Given the description of an element on the screen output the (x, y) to click on. 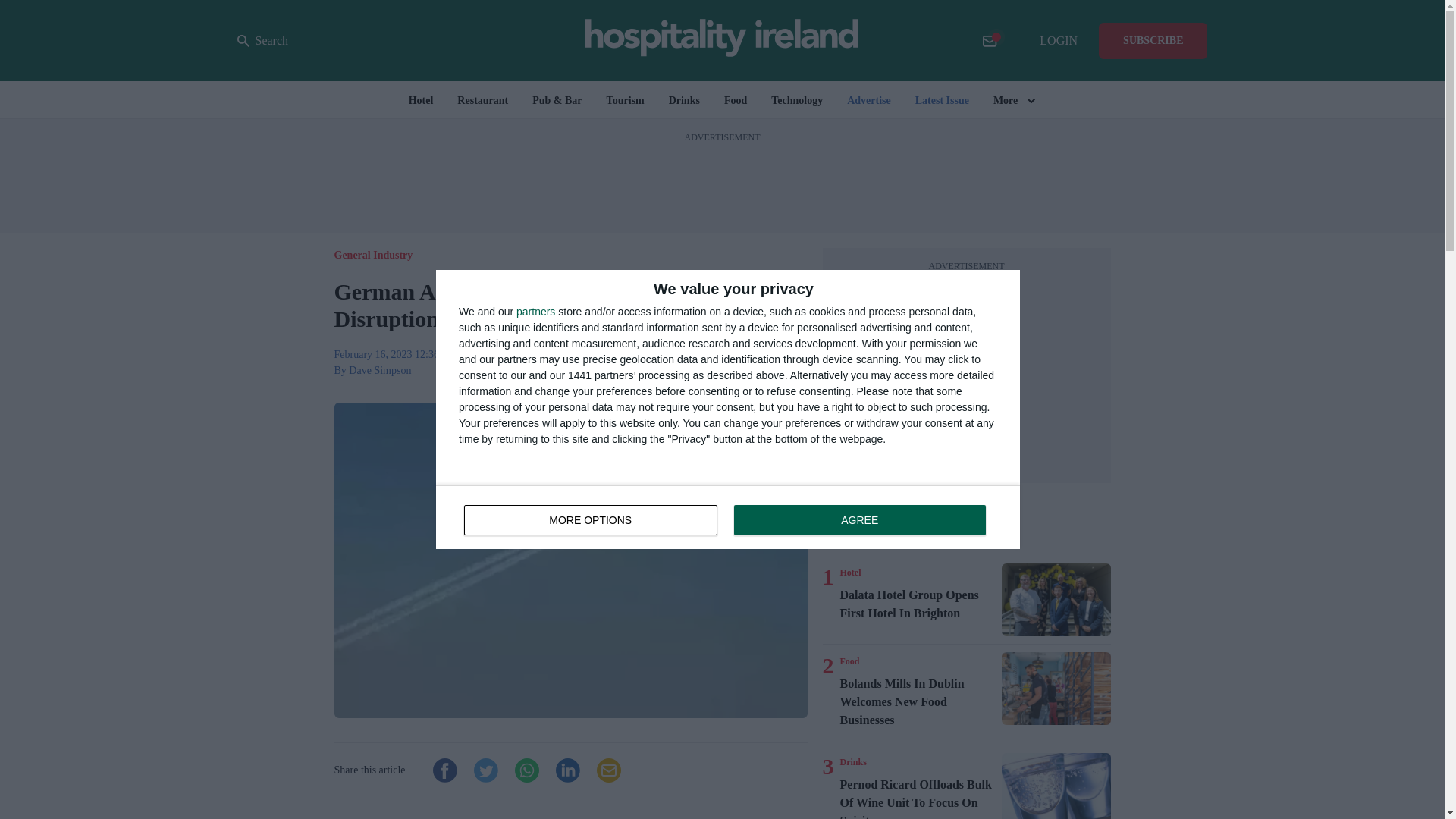
Bolands Mills In Dublin Welcomes New Food Businesses (1055, 687)
Drinks (853, 761)
Dalata Hotel Group Opens First Hotel In Brighton (917, 604)
Food (850, 661)
Dalata Hotel Group Opens First Hotel In Brighton (1055, 599)
Bolands Mills In Dublin Welcomes New Food Businesses (917, 701)
Hotel (727, 516)
Pernod Ricard Offloads Bulk Of Wine Unit To Focus On Spirits (850, 572)
